Given the description of an element on the screen output the (x, y) to click on. 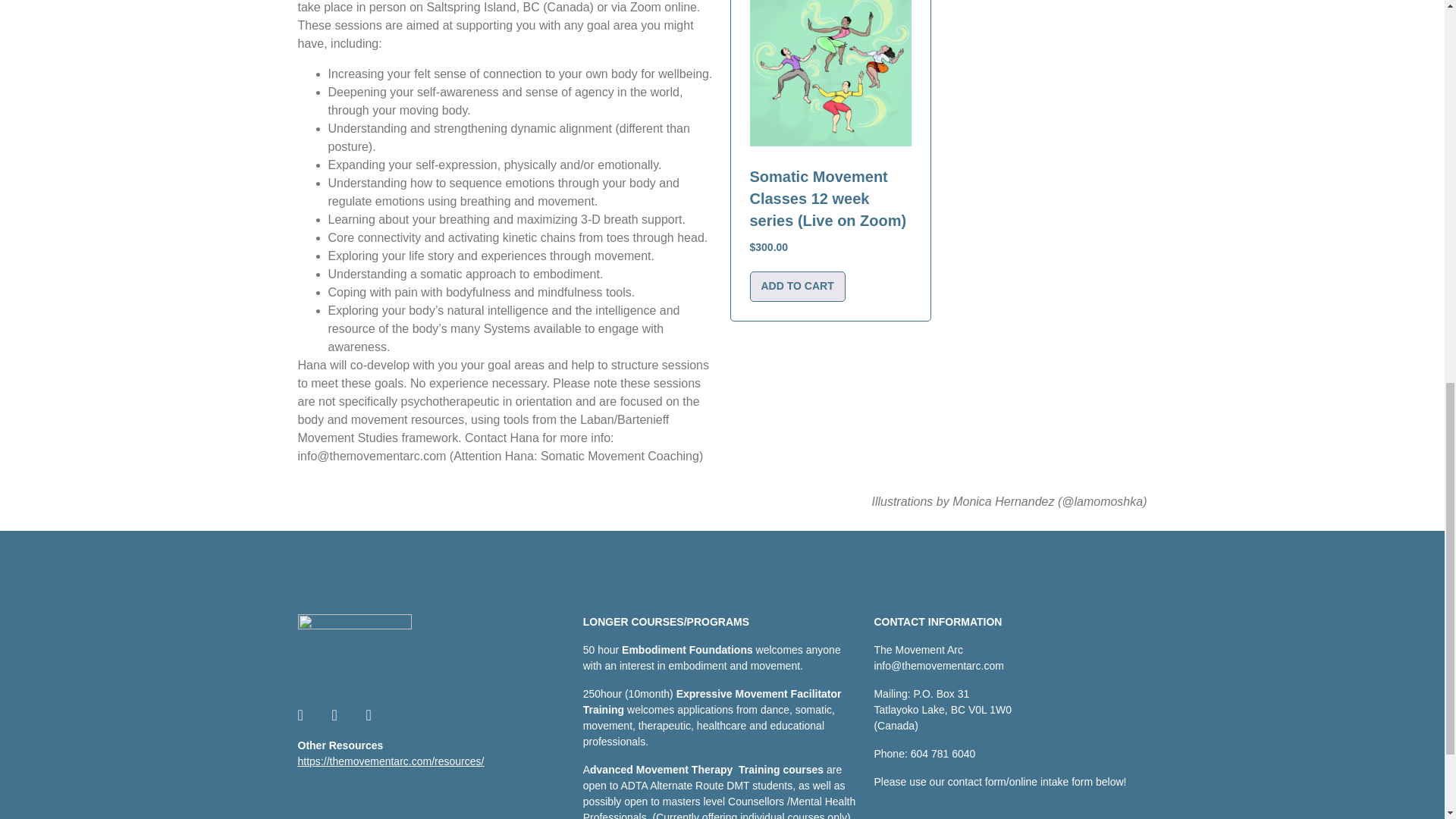
ADD TO CART (796, 286)
